Given the description of an element on the screen output the (x, y) to click on. 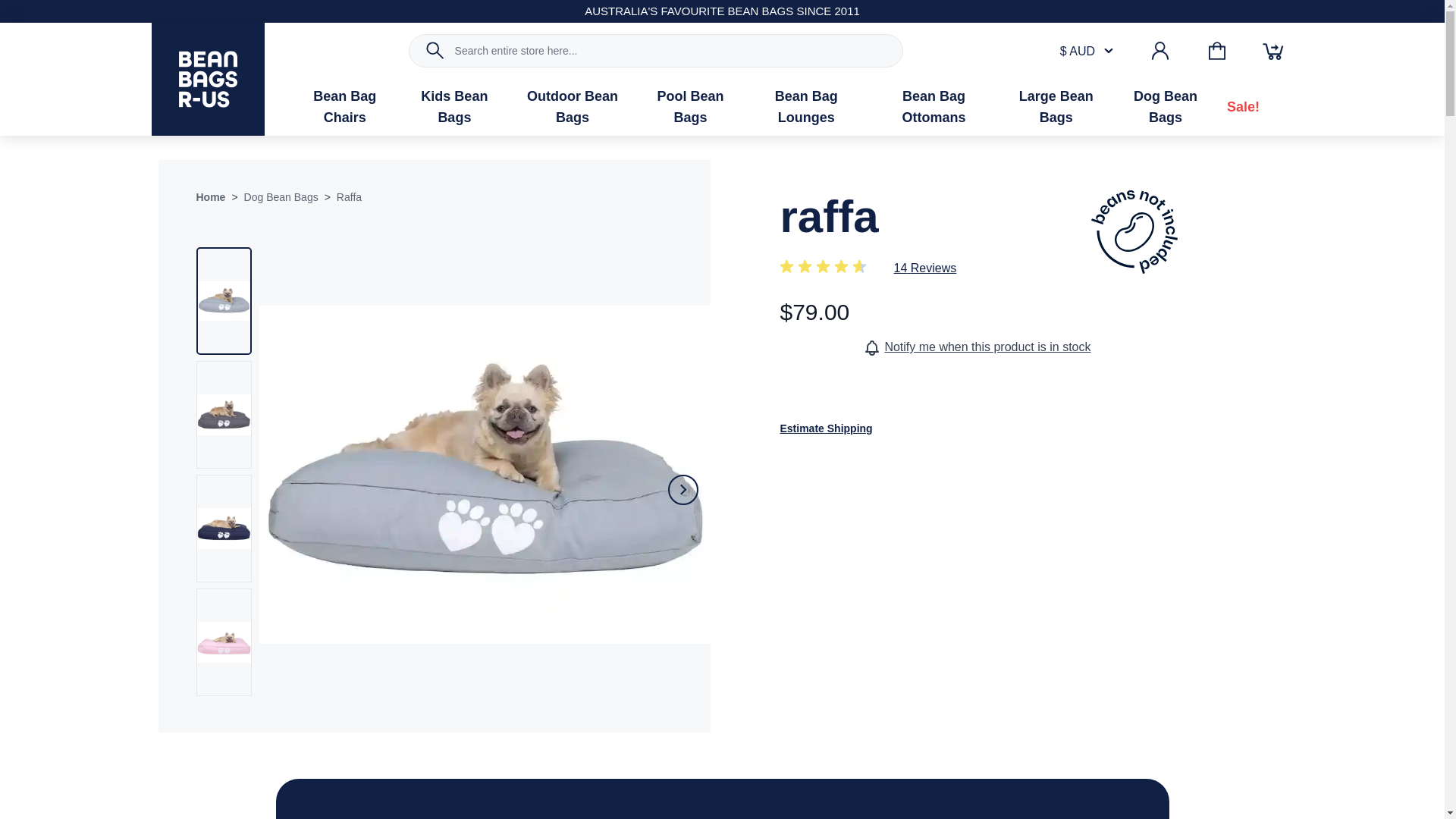
Bean Bag Ottomans (933, 106)
Search (435, 49)
Dog Bean Bags (1165, 106)
Bean Bag Lounges (805, 106)
Large Bean Bags (1056, 106)
Outdoor Bean Bags (571, 106)
Kids Bean Bags (454, 106)
Pool Bean Bags (690, 106)
Home (210, 197)
Bean bags r us (207, 78)
Bean Bag Chairs (344, 106)
